Given the description of an element on the screen output the (x, y) to click on. 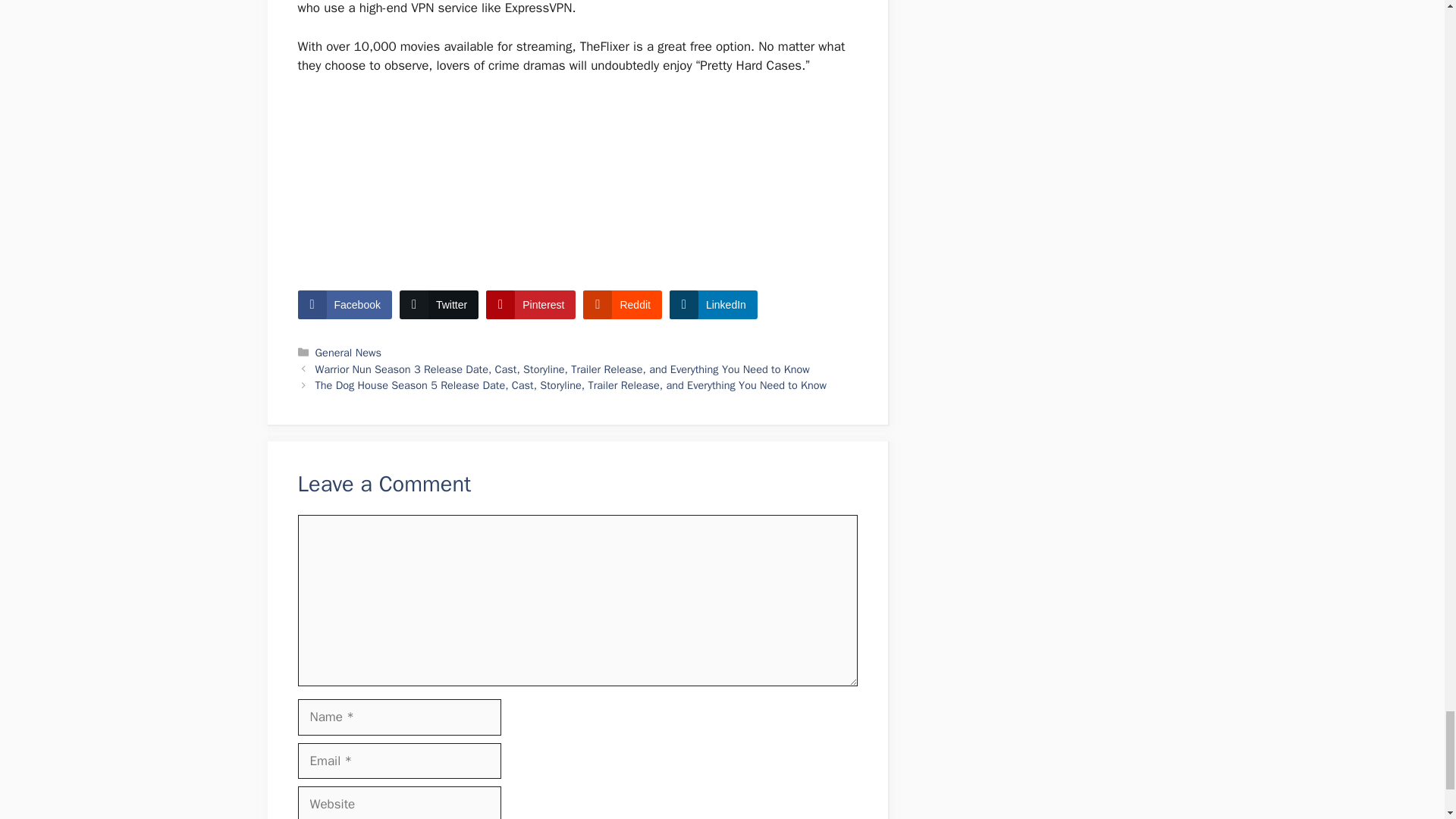
LinkedIn (713, 304)
General News (348, 352)
Twitter (438, 304)
Reddit (622, 304)
Pinterest (530, 304)
Facebook (344, 304)
